Given the description of an element on the screen output the (x, y) to click on. 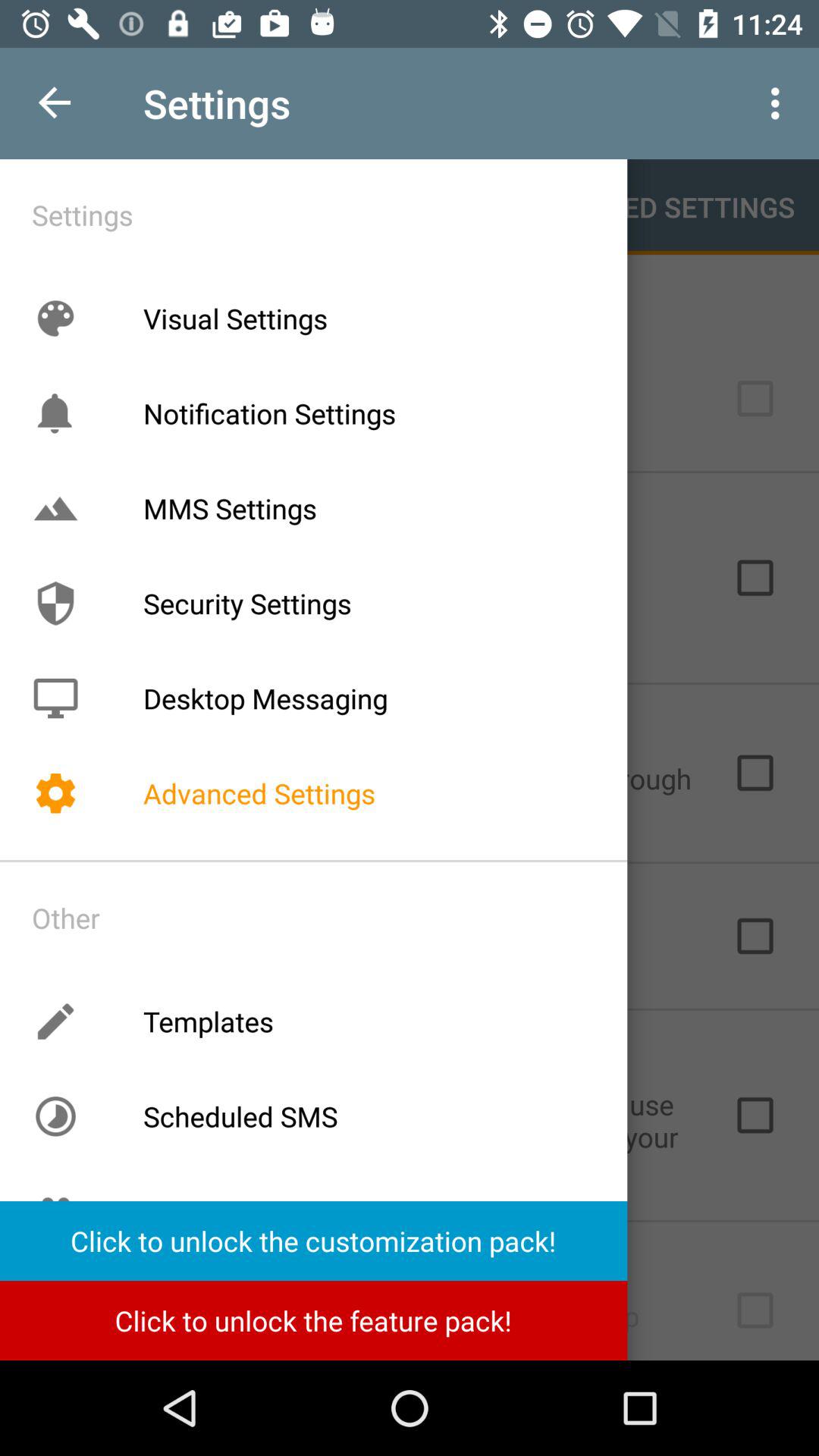
click on the check box which is to the right of advanced settings (755, 773)
